Given the description of an element on the screen output the (x, y) to click on. 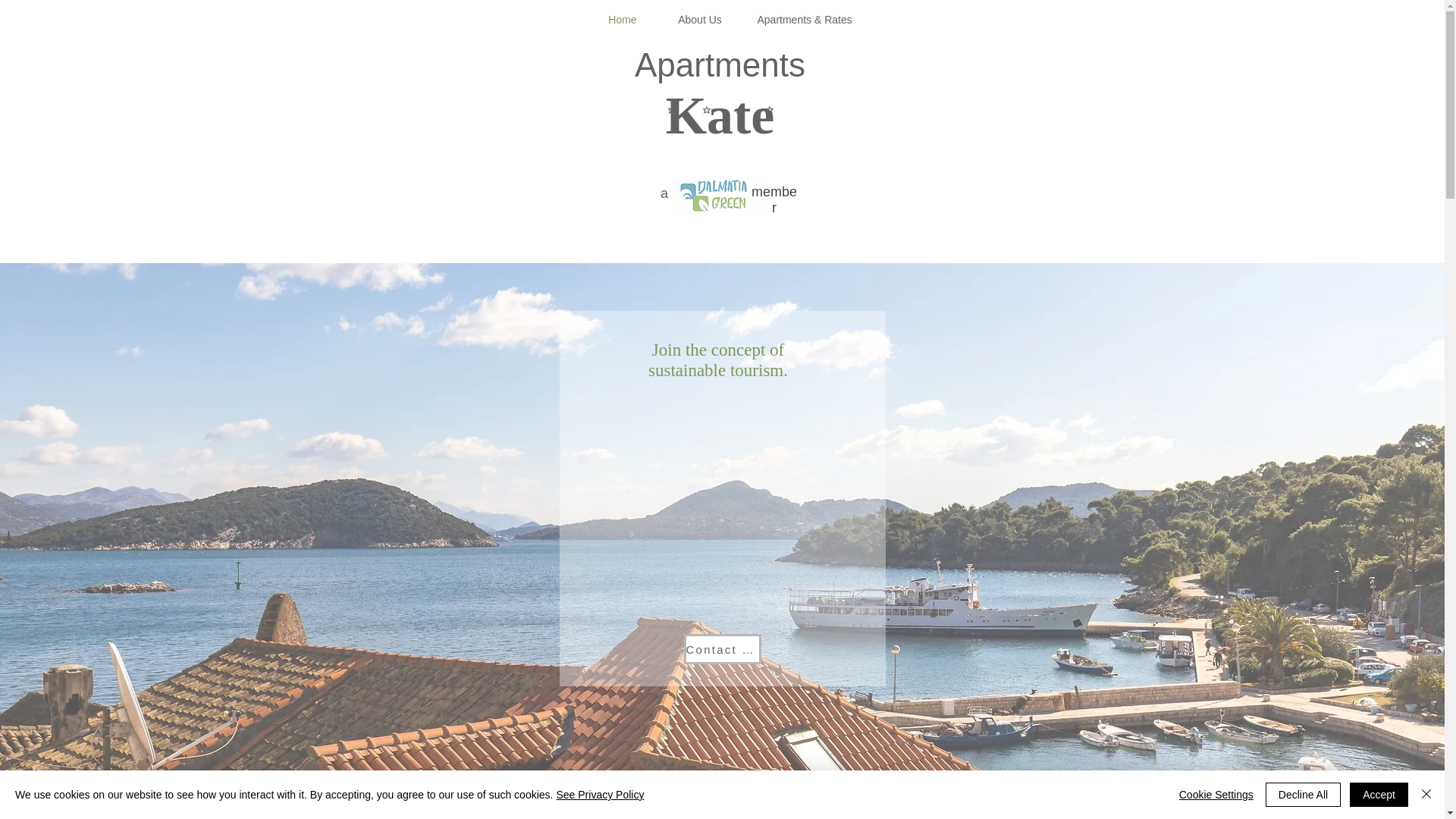
See Privacy Policy (599, 794)
Decline All (1302, 794)
Contact Us (722, 648)
Accept (1378, 794)
Kate (719, 115)
Home (622, 19)
About Us (699, 19)
Apartments (719, 64)
